Given the description of an element on the screen output the (x, y) to click on. 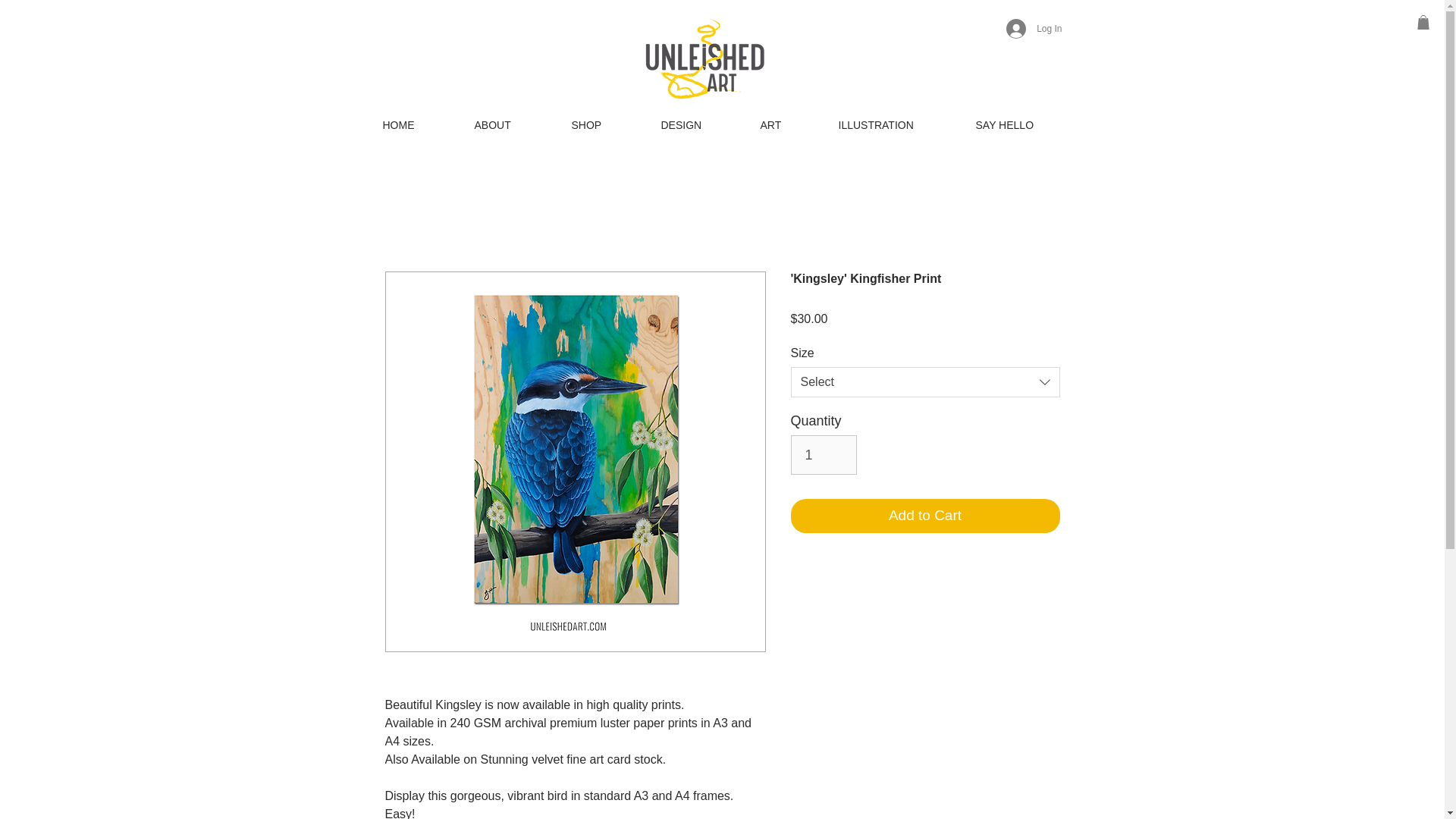
HOME (417, 125)
Log In (1033, 28)
1 (823, 454)
SAY HELLO (1021, 125)
SHOP (604, 125)
DESIGN (698, 125)
ABOUT (511, 125)
Select (924, 381)
Add to Cart (924, 515)
ILLUSTRATION (895, 125)
